Given the description of an element on the screen output the (x, y) to click on. 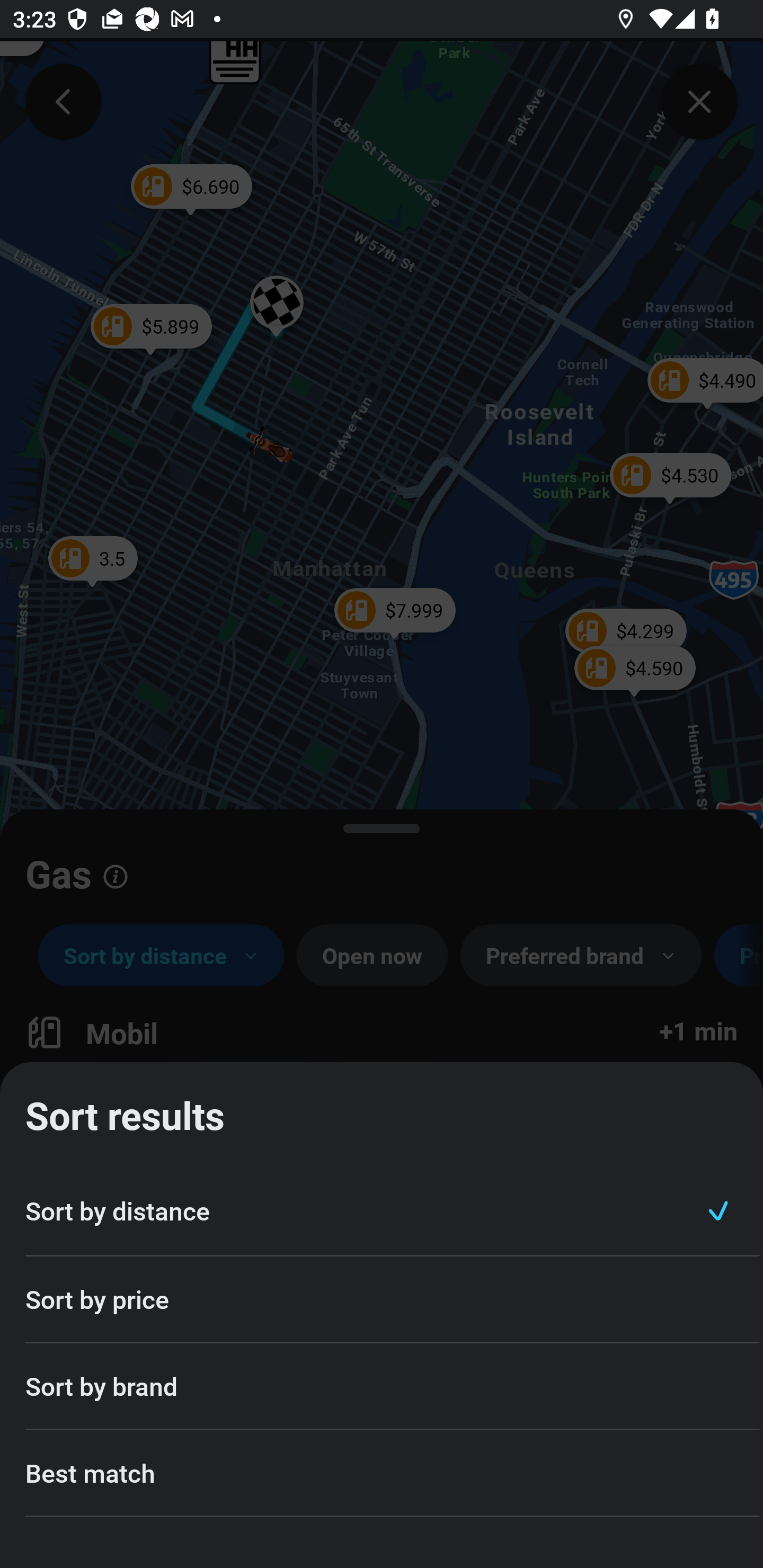
Sort by distance ACTION_CELL_TEXT (381, 1210)
Sort by price ACTION_CELL_TEXT (381, 1299)
Sort by brand ACTION_CELL_TEXT (381, 1386)
Best match ACTION_CELL_TEXT (381, 1473)
